Given the description of an element on the screen output the (x, y) to click on. 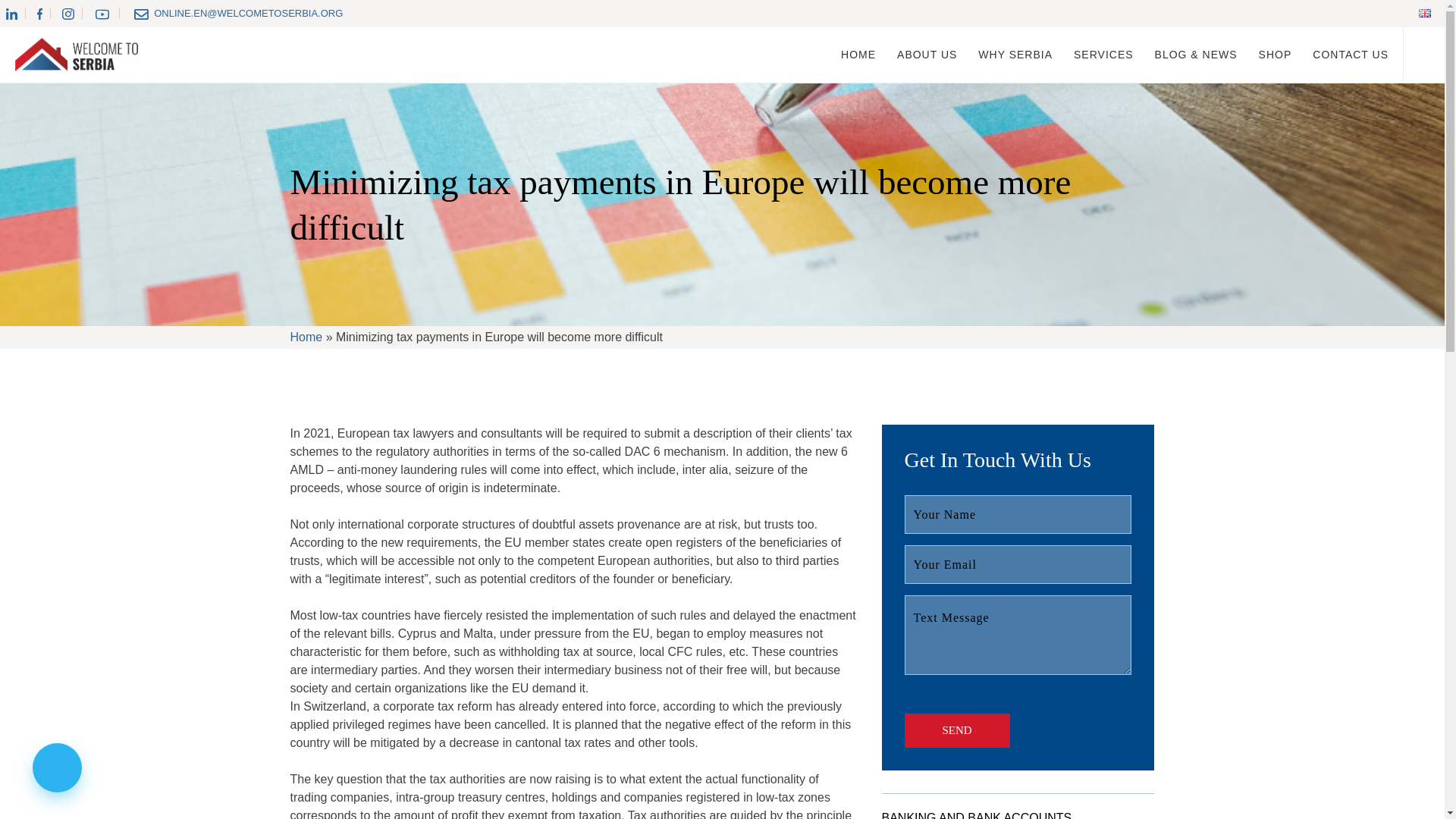
SERVICES (1104, 54)
Send (956, 730)
CONTACT US (1351, 54)
ABOUT US (926, 54)
WHY SERBIA (1015, 54)
